Given the description of an element on the screen output the (x, y) to click on. 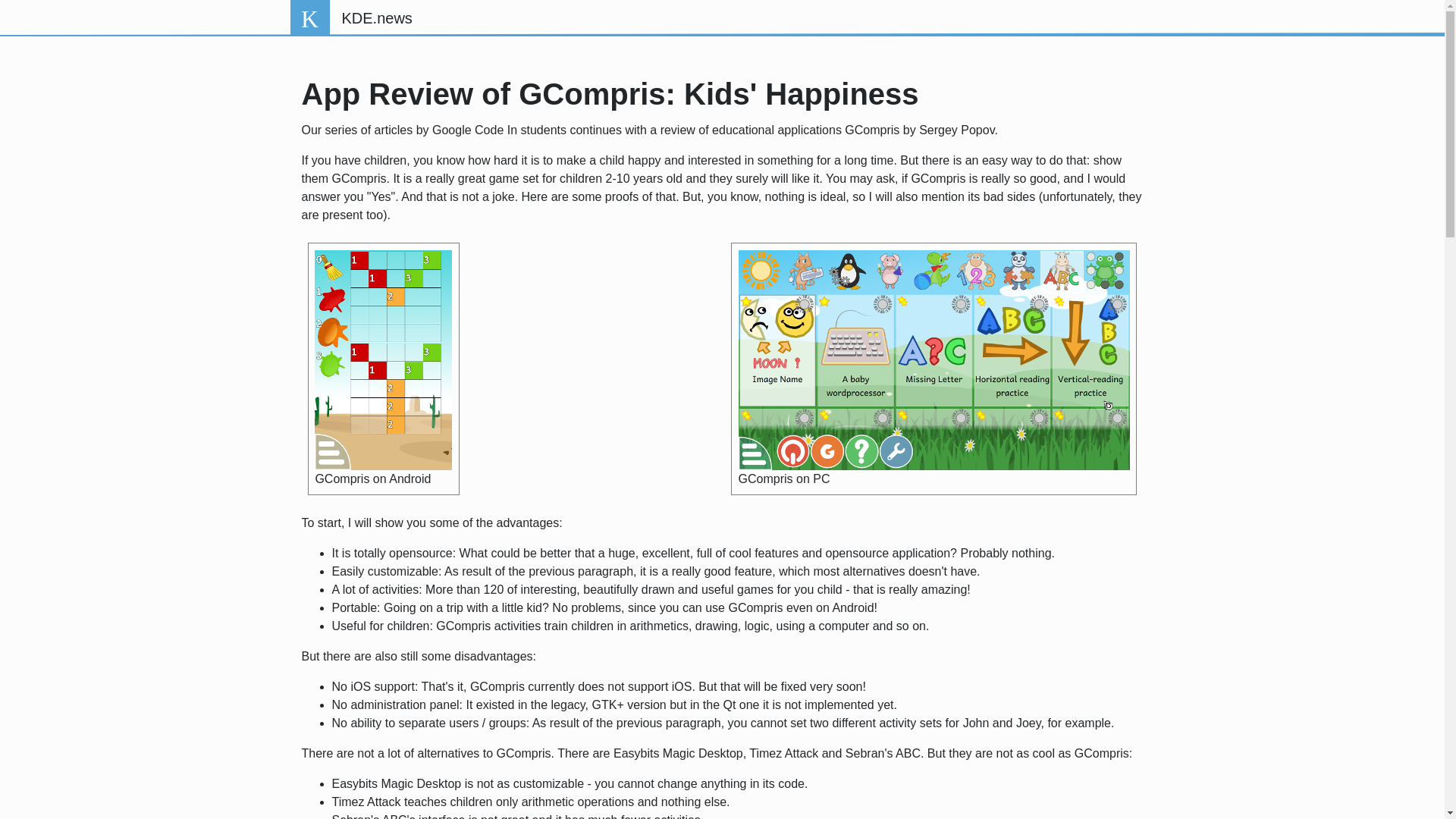
Home (309, 18)
Home (376, 18)
